Given the description of an element on the screen output the (x, y) to click on. 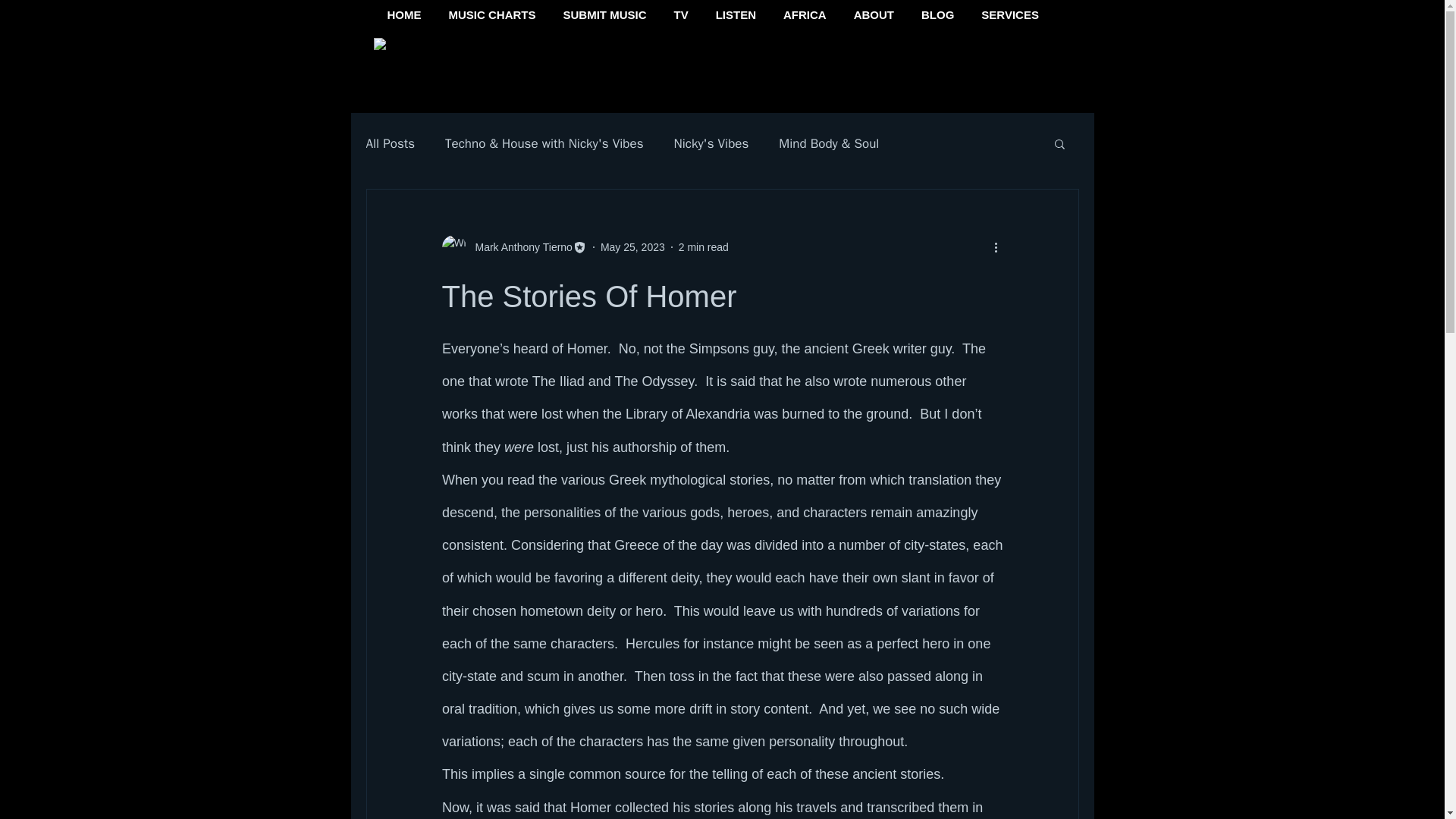
LISTEN (735, 18)
MUSIC CHARTS (492, 18)
SUBMIT MUSIC (603, 18)
TV (680, 18)
SERVICES (1010, 18)
All Posts (389, 143)
May 25, 2023 (632, 246)
HOME (402, 18)
2 min read (703, 246)
AFRICA (805, 18)
